Given the description of an element on the screen output the (x, y) to click on. 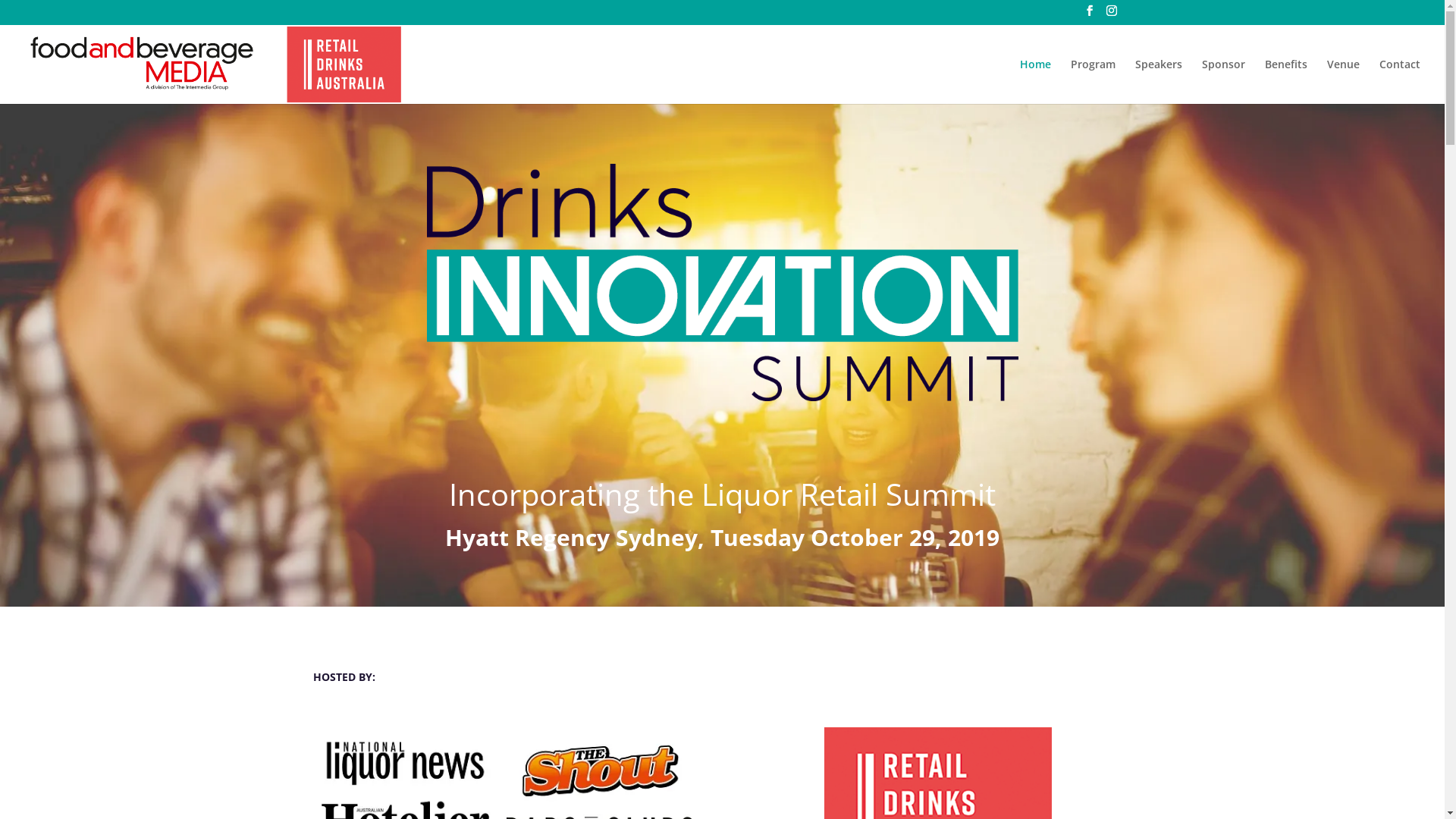
Benefits Element type: text (1285, 81)
Contact Element type: text (1399, 81)
Speakers Element type: text (1158, 81)
Venue Element type: text (1343, 81)
Sponsor Element type: text (1223, 81)
Home Element type: text (1035, 81)
Program Element type: text (1092, 81)
